Given the description of an element on the screen output the (x, y) to click on. 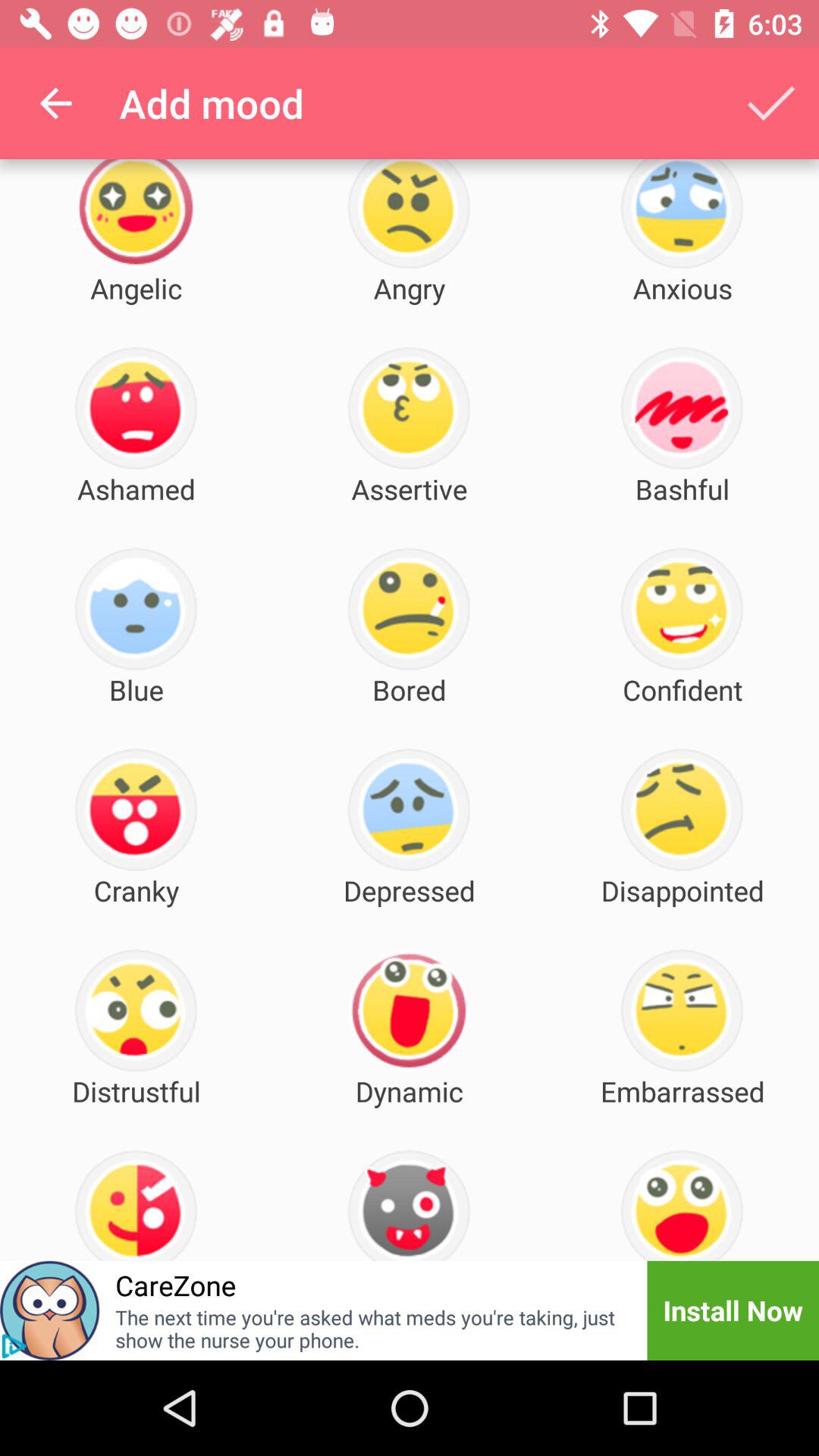
open icon next to the the next time icon (733, 1310)
